Given the description of an element on the screen output the (x, y) to click on. 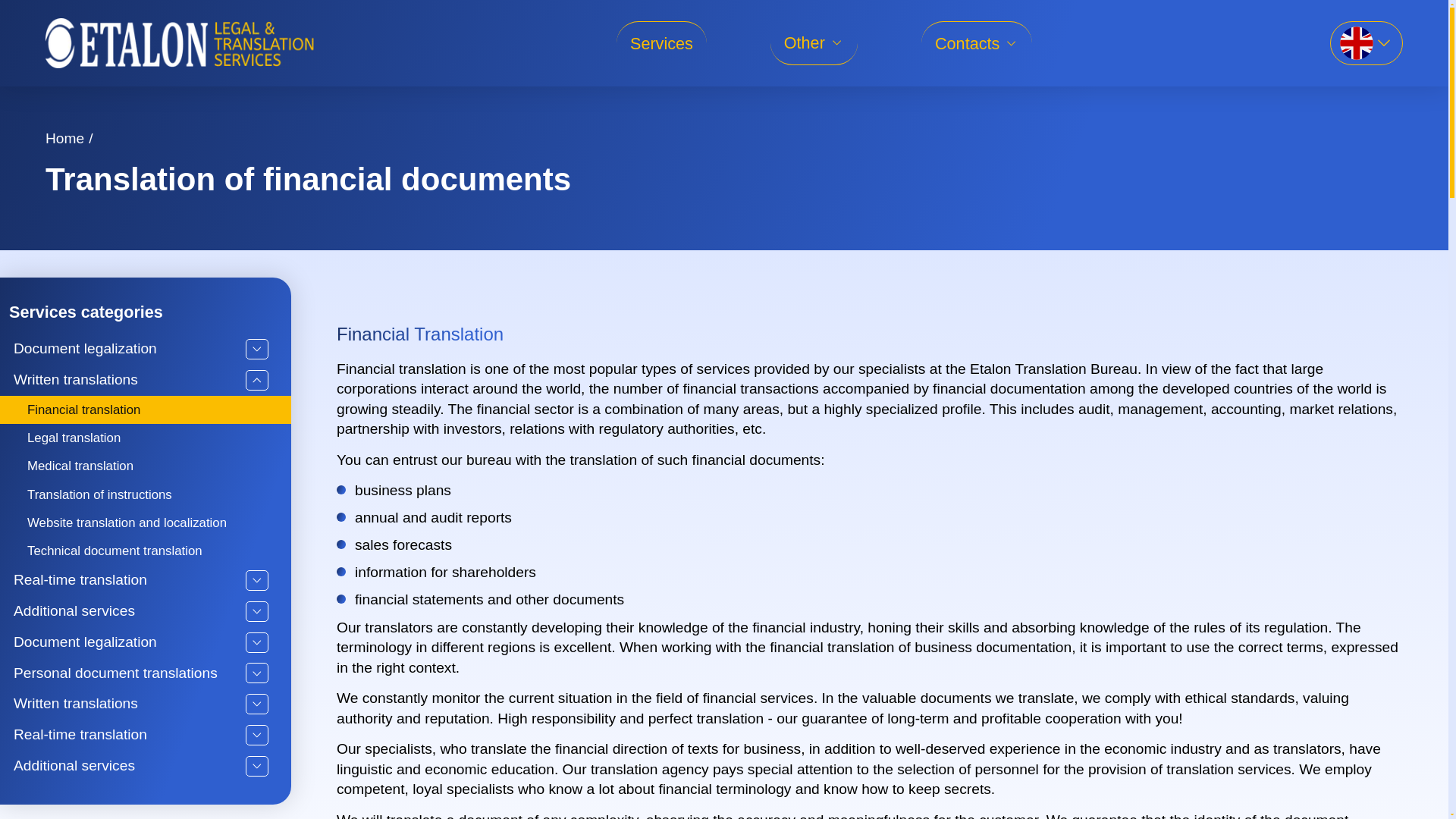
Home (64, 138)
Technical document translation (145, 551)
Website translation and localization (145, 522)
Medical translation (145, 465)
Legal translation (145, 438)
Financial translation (145, 409)
Translation of instructions (145, 494)
Services (660, 43)
